Given the description of an element on the screen output the (x, y) to click on. 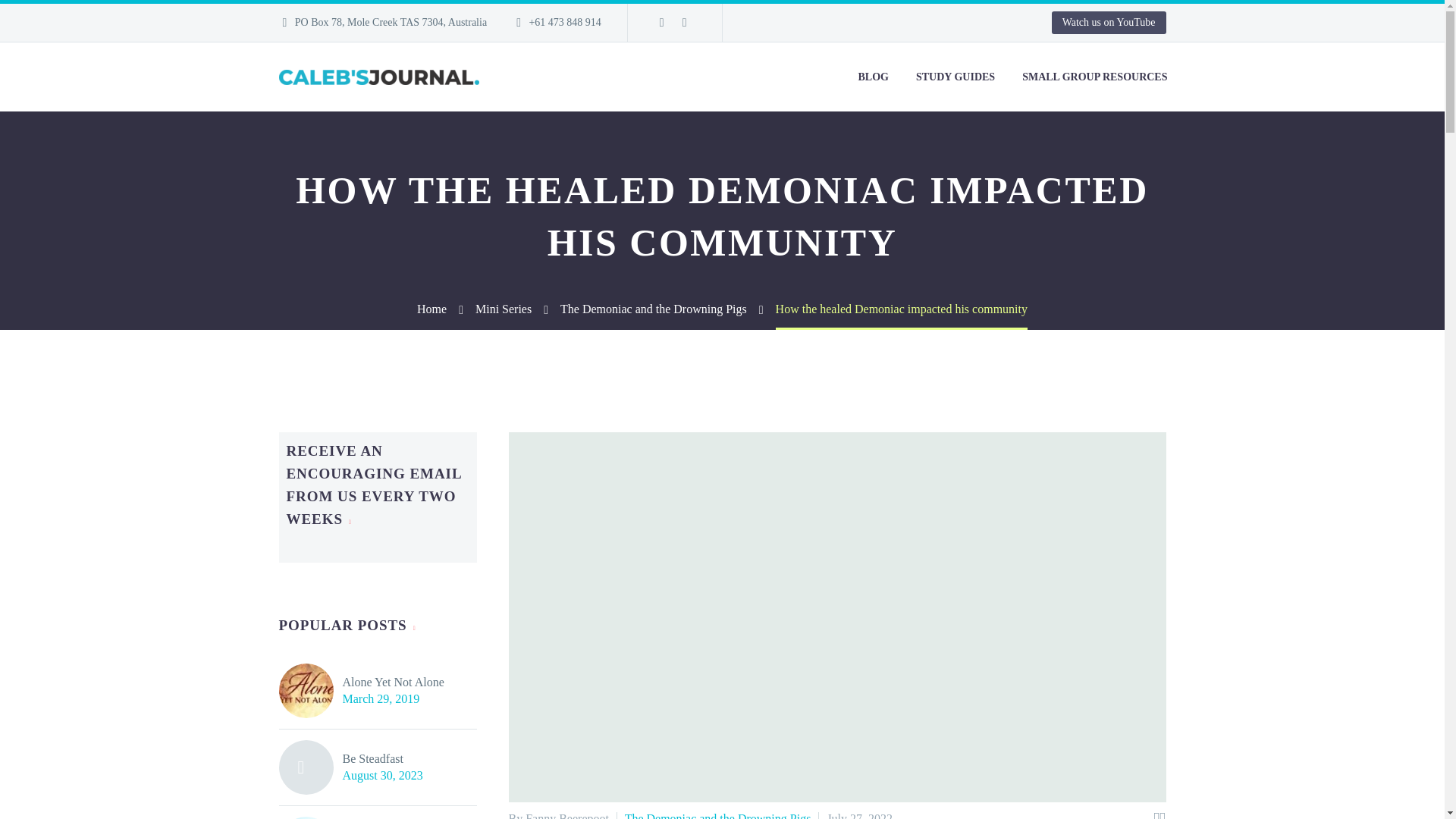
STUDY GUIDES (955, 76)
Alone Yet Not Alone (393, 682)
The Demoniac and the Drowning Pigs (653, 308)
Facebook (661, 22)
BLOG (873, 76)
SMALL GROUP RESOURCES (1093, 76)
Home (431, 308)
YouTube (683, 22)
Watch us on YouTube (1108, 22)
Be Steadfast (382, 759)
